Given the description of an element on the screen output the (x, y) to click on. 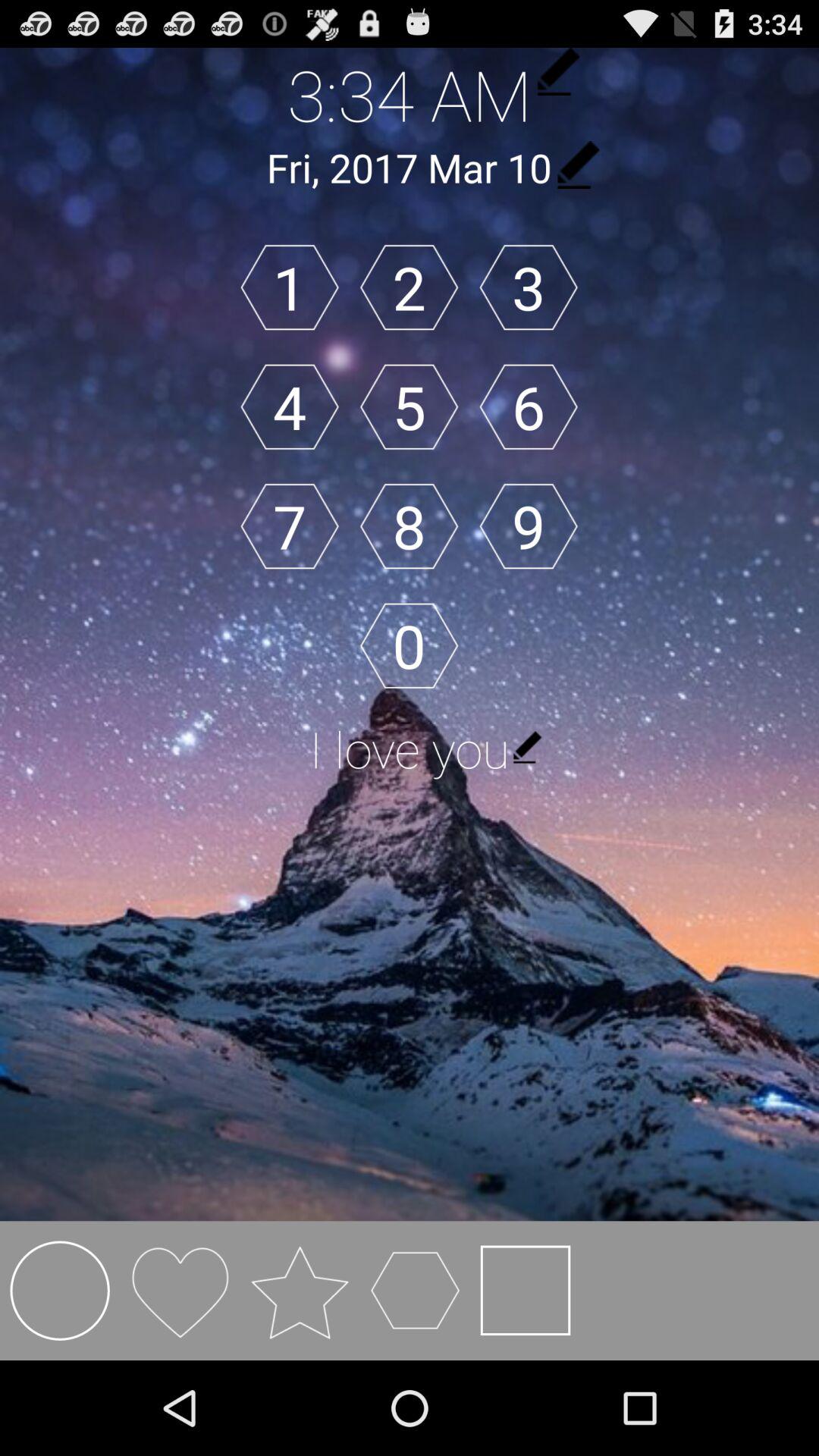
turn off the icon above the 4 button (289, 287)
